Given the description of an element on the screen output the (x, y) to click on. 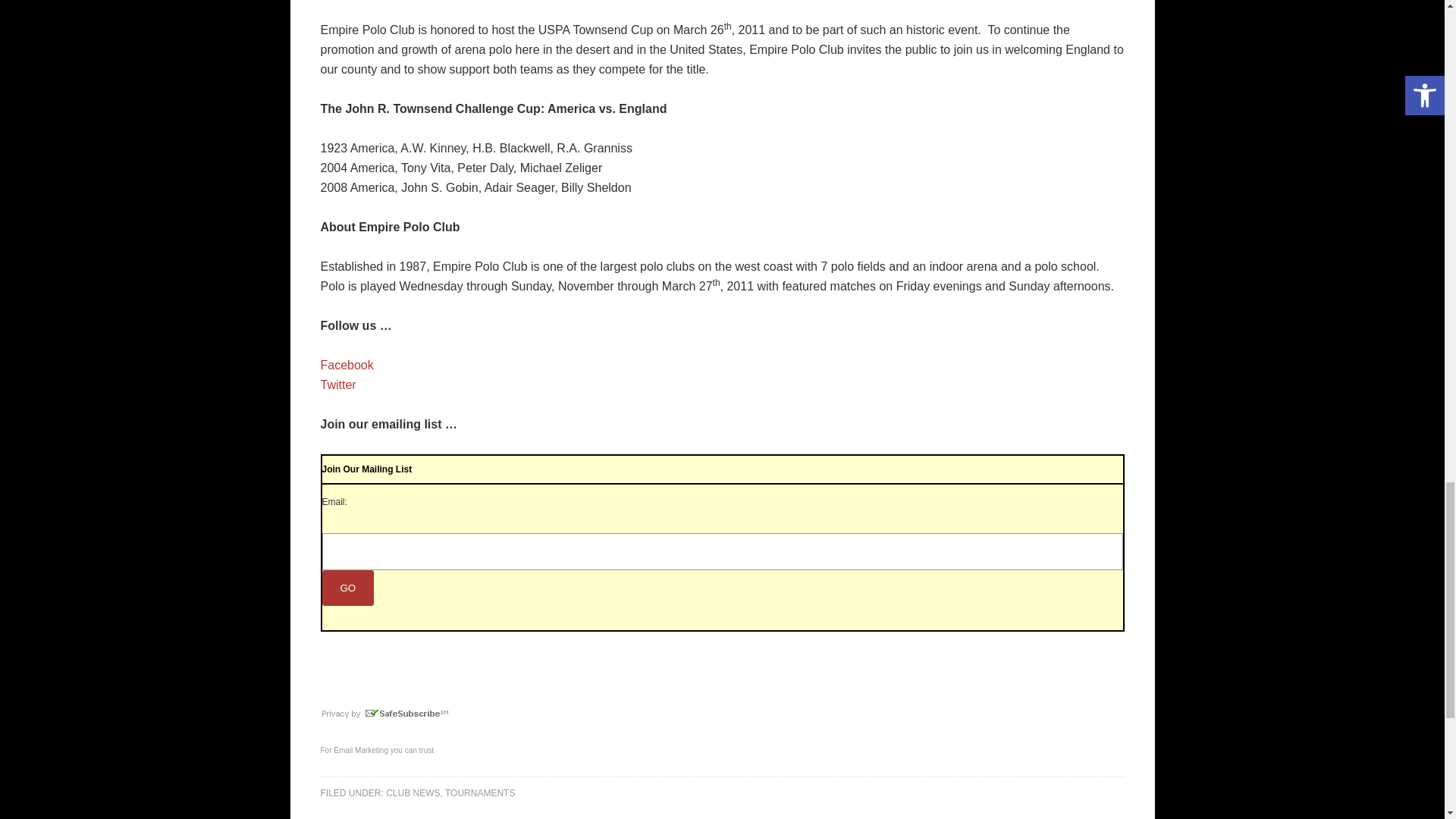
TOURNAMENTS (480, 792)
Email Marketing (360, 750)
Twitter (337, 384)
Facebook (346, 364)
Go (347, 588)
Go (347, 588)
CLUB NEWS (412, 792)
